Given the description of an element on the screen output the (x, y) to click on. 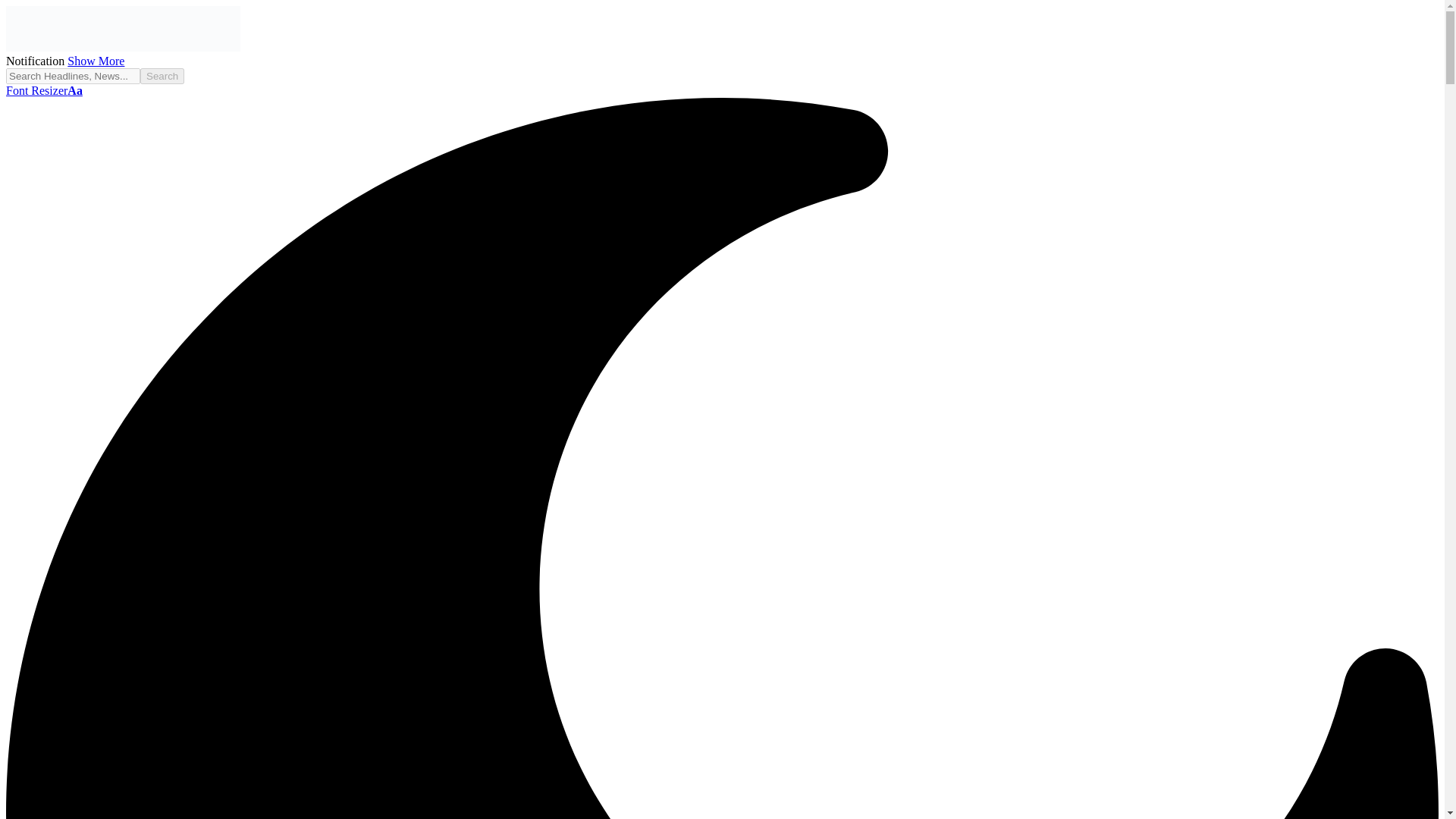
Search (161, 75)
TownFlex (122, 47)
Search (161, 75)
Show More (94, 60)
Font ResizerAa (43, 90)
